Given the description of an element on the screen output the (x, y) to click on. 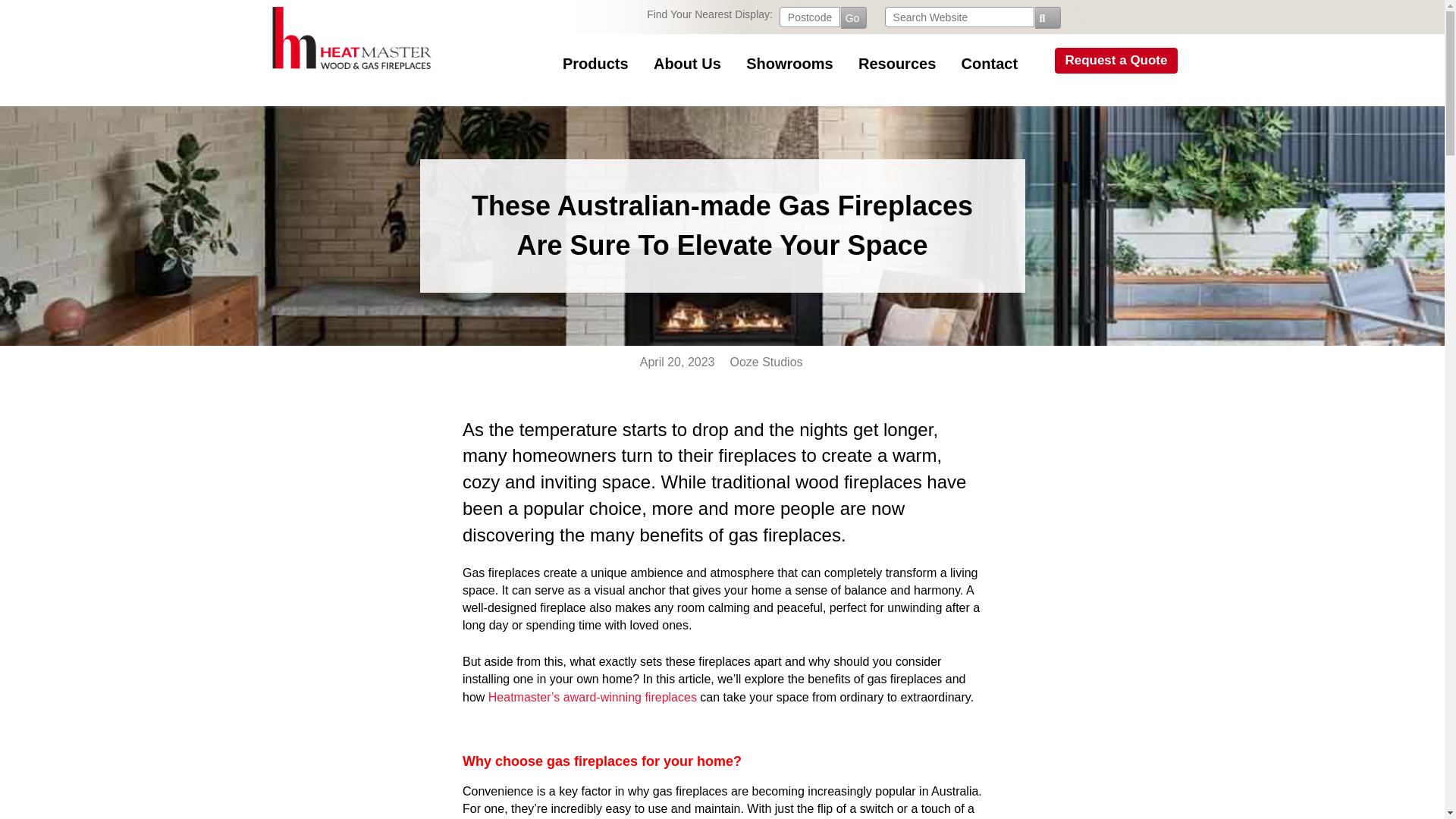
Go (853, 17)
Heat Master (352, 71)
Showrooms (777, 63)
Request a Quote (1098, 60)
Resources (885, 63)
Heat Master (352, 38)
Go (853, 17)
Products (584, 63)
Contact (978, 63)
About Us (675, 63)
